Given the description of an element on the screen output the (x, y) to click on. 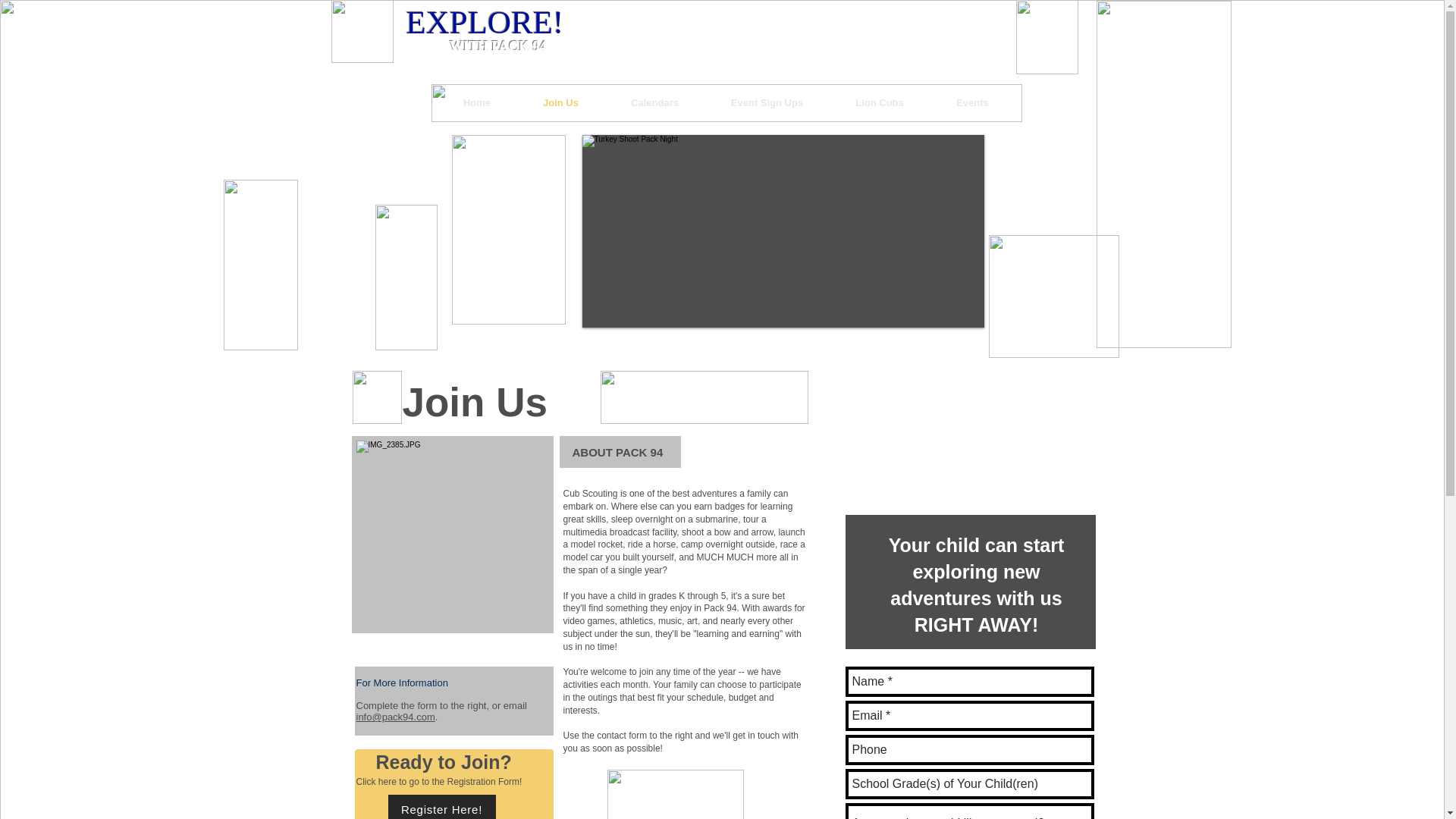
Calendars (654, 103)
cubsoutlogo001.png (376, 397)
Event Sign Ups (766, 103)
Lion Cubs (879, 103)
EXPLORE! (485, 22)
Join Us (560, 103)
Register Here! (442, 806)
Events (972, 103)
Home (476, 103)
2015-05-26.jpg (452, 534)
p94patch001c.png (361, 31)
